Given the description of an element on the screen output the (x, y) to click on. 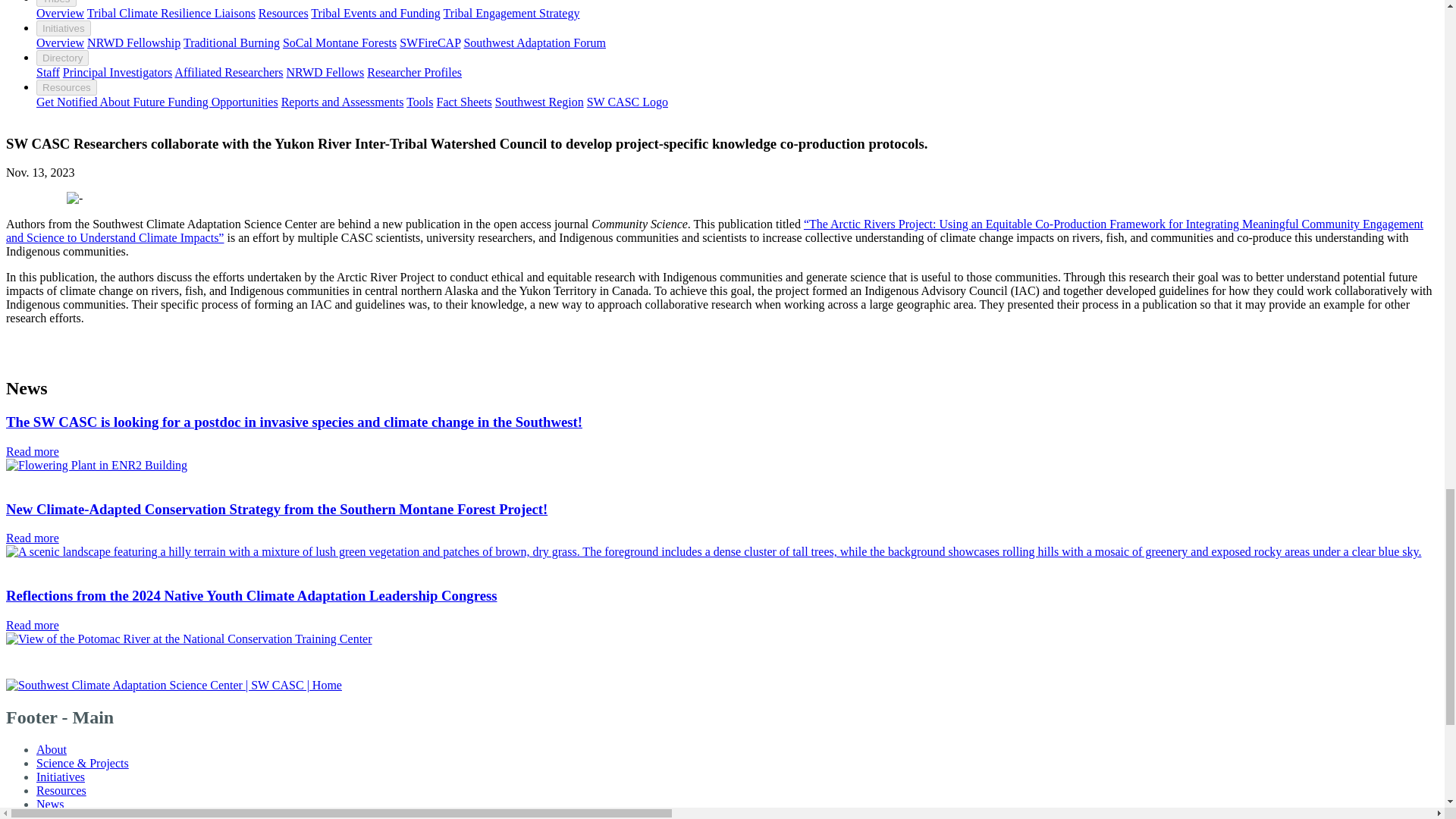
Initiatives (63, 28)
Tribal Climate Resilience Liaisons (171, 12)
Resources (283, 12)
Tribal Engagement Strategy (511, 12)
Overview (60, 42)
Overview (60, 12)
NRWD Fellowship (133, 42)
Tribal Events and Funding (376, 12)
Traditional Burning (231, 42)
Tribes (56, 3)
